Given the description of an element on the screen output the (x, y) to click on. 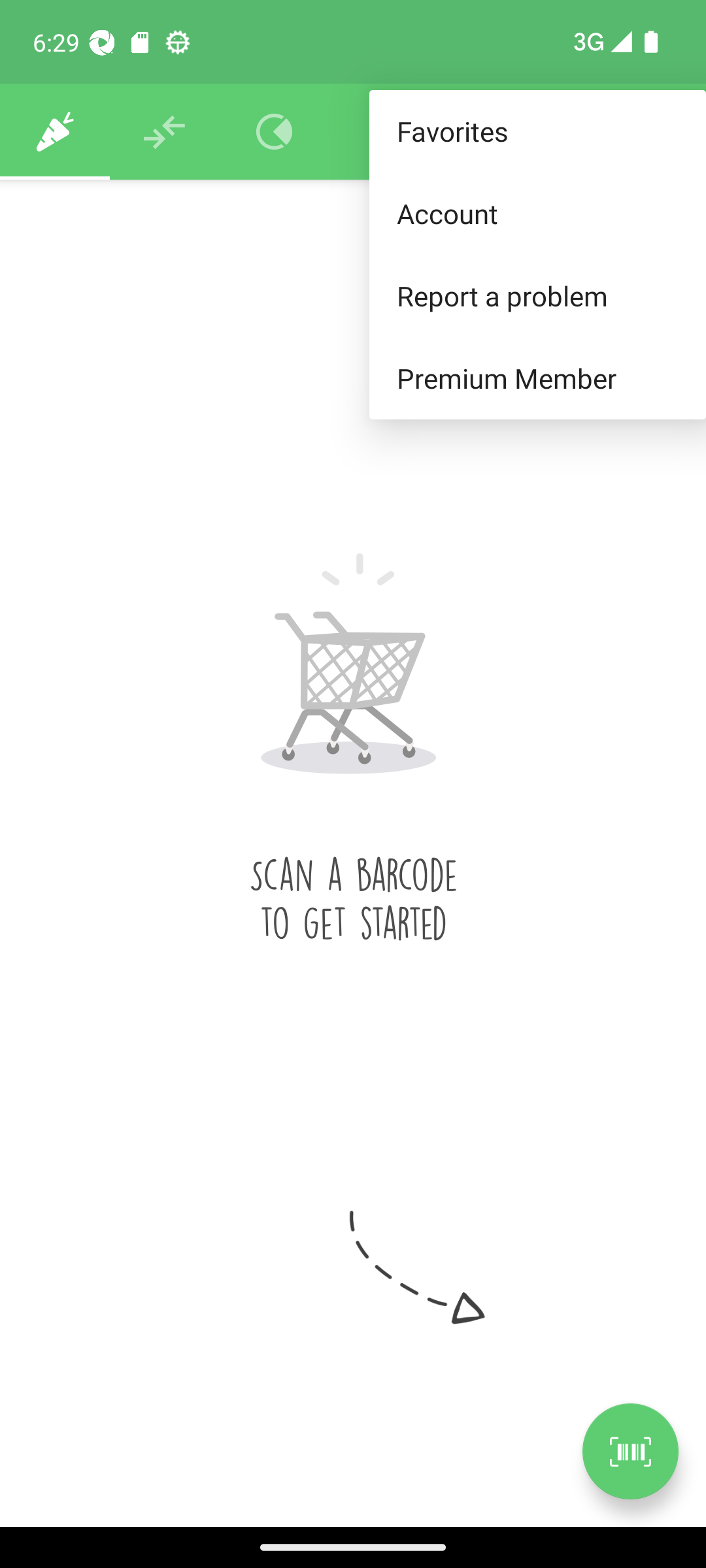
Favorites (537, 131)
Account (537, 213)
Report a problem (537, 295)
Premium Member (537, 378)
